Given the description of an element on the screen output the (x, y) to click on. 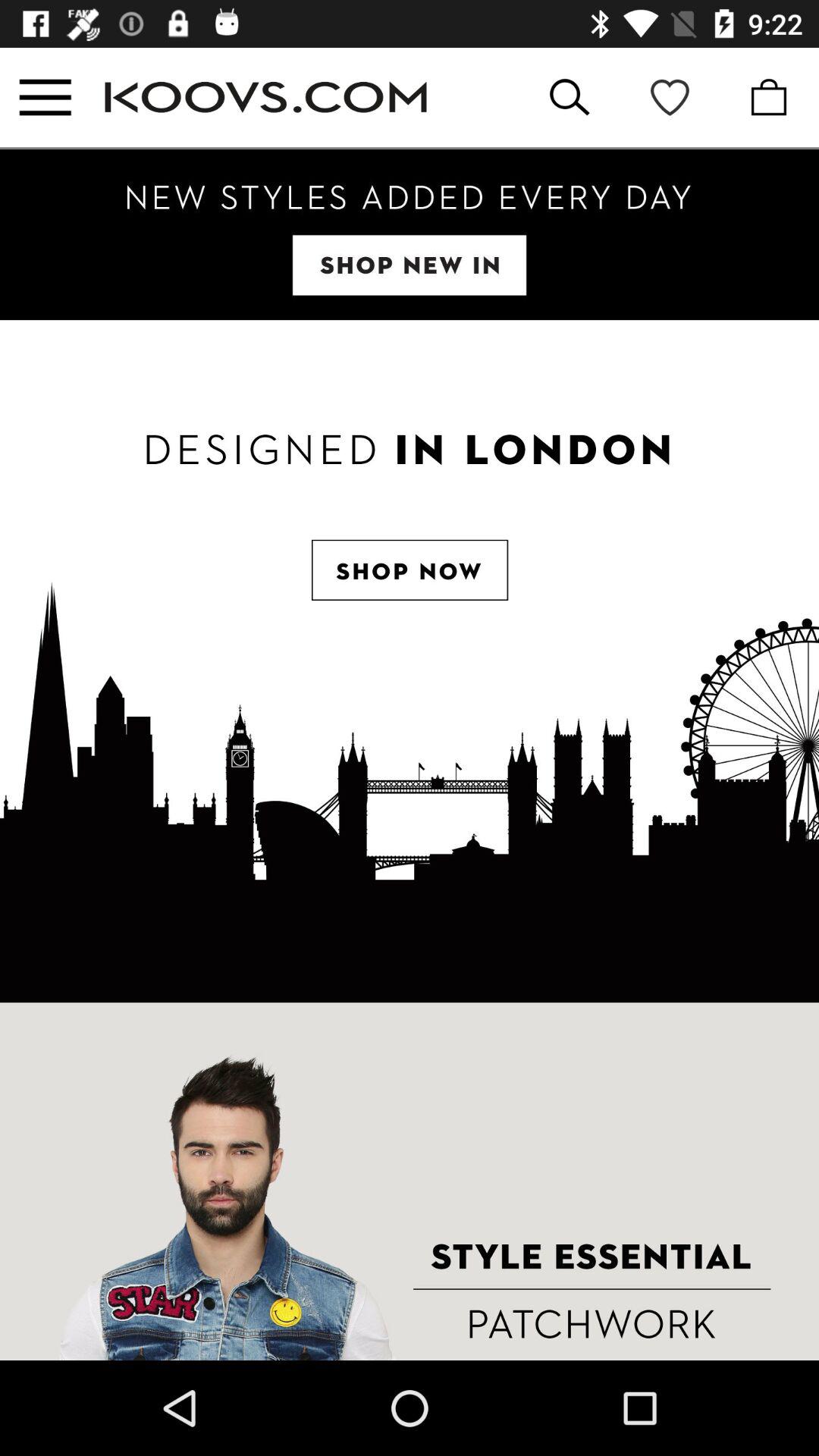
go to main menu (44, 97)
